Given the description of an element on the screen output the (x, y) to click on. 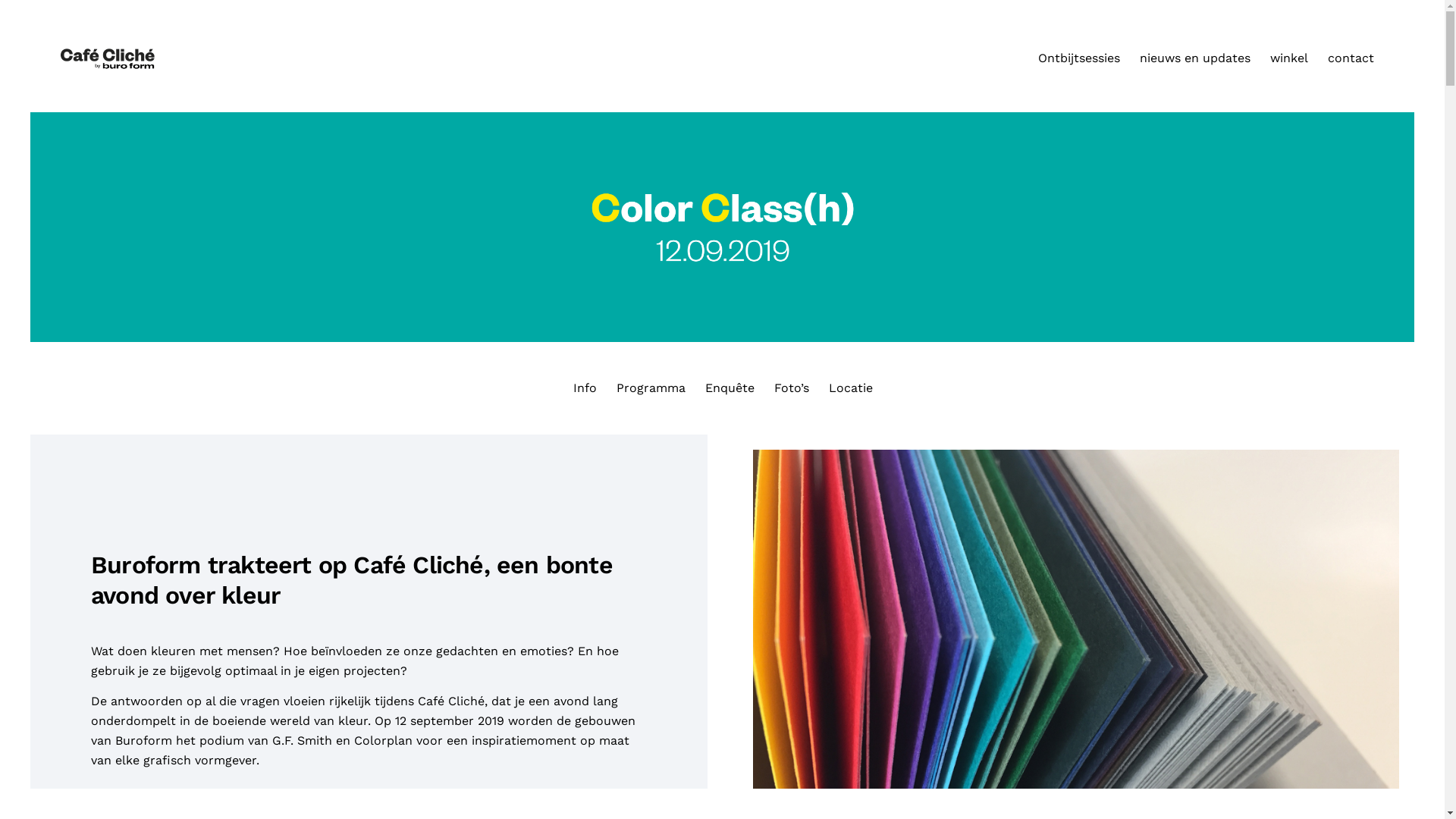
Locatie Element type: text (849, 387)
Ontbijtsessies Element type: text (1078, 58)
contact Element type: text (1350, 58)
colorclassh_title Element type: hover (721, 226)
Info Element type: text (584, 387)
winkel Element type: text (1288, 58)
nieuws en updates Element type: text (1194, 58)
Programma Element type: text (650, 387)
